Given the description of an element on the screen output the (x, y) to click on. 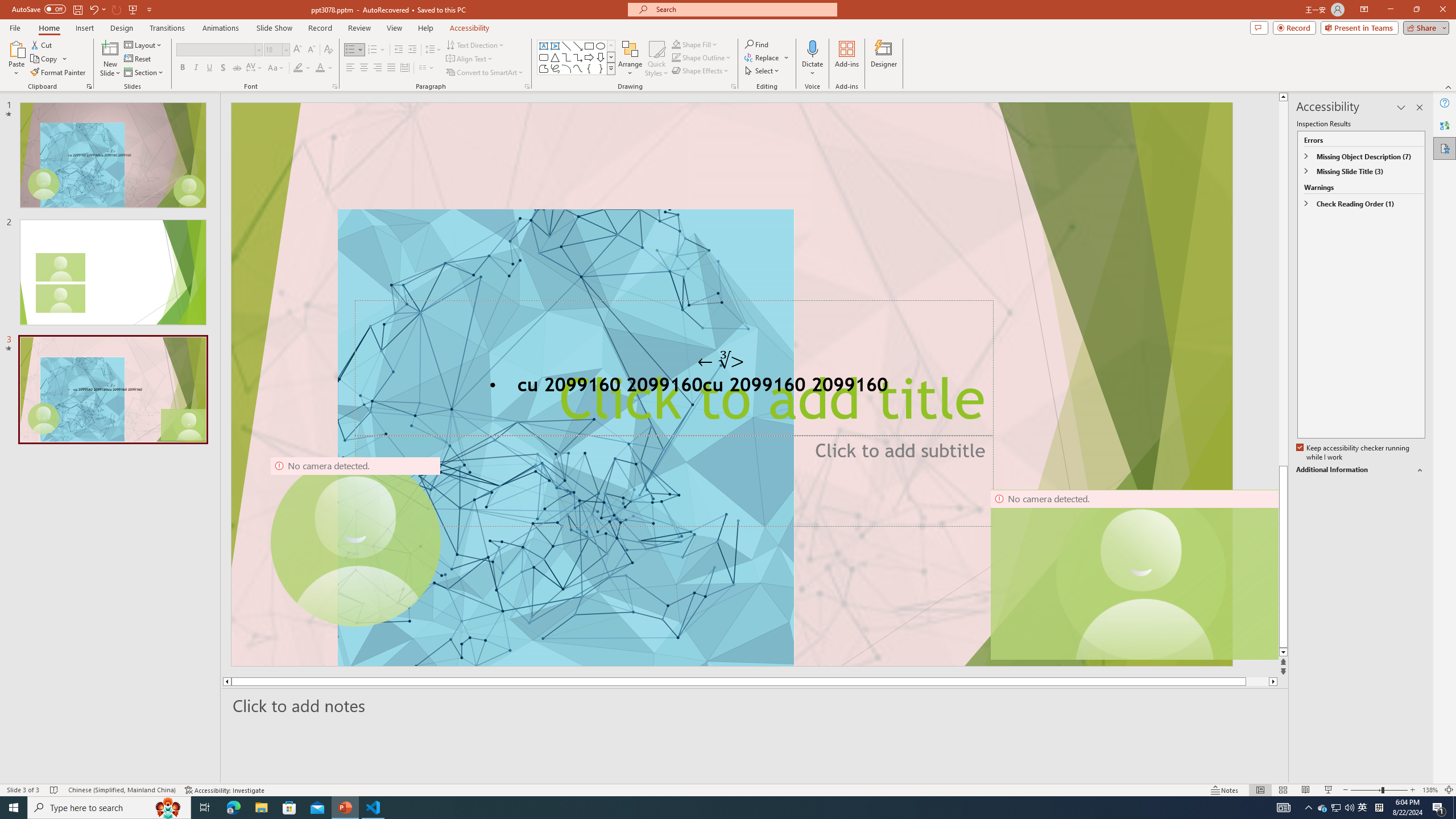
Camera 14, No camera detected. (1134, 574)
